Given the description of an element on the screen output the (x, y) to click on. 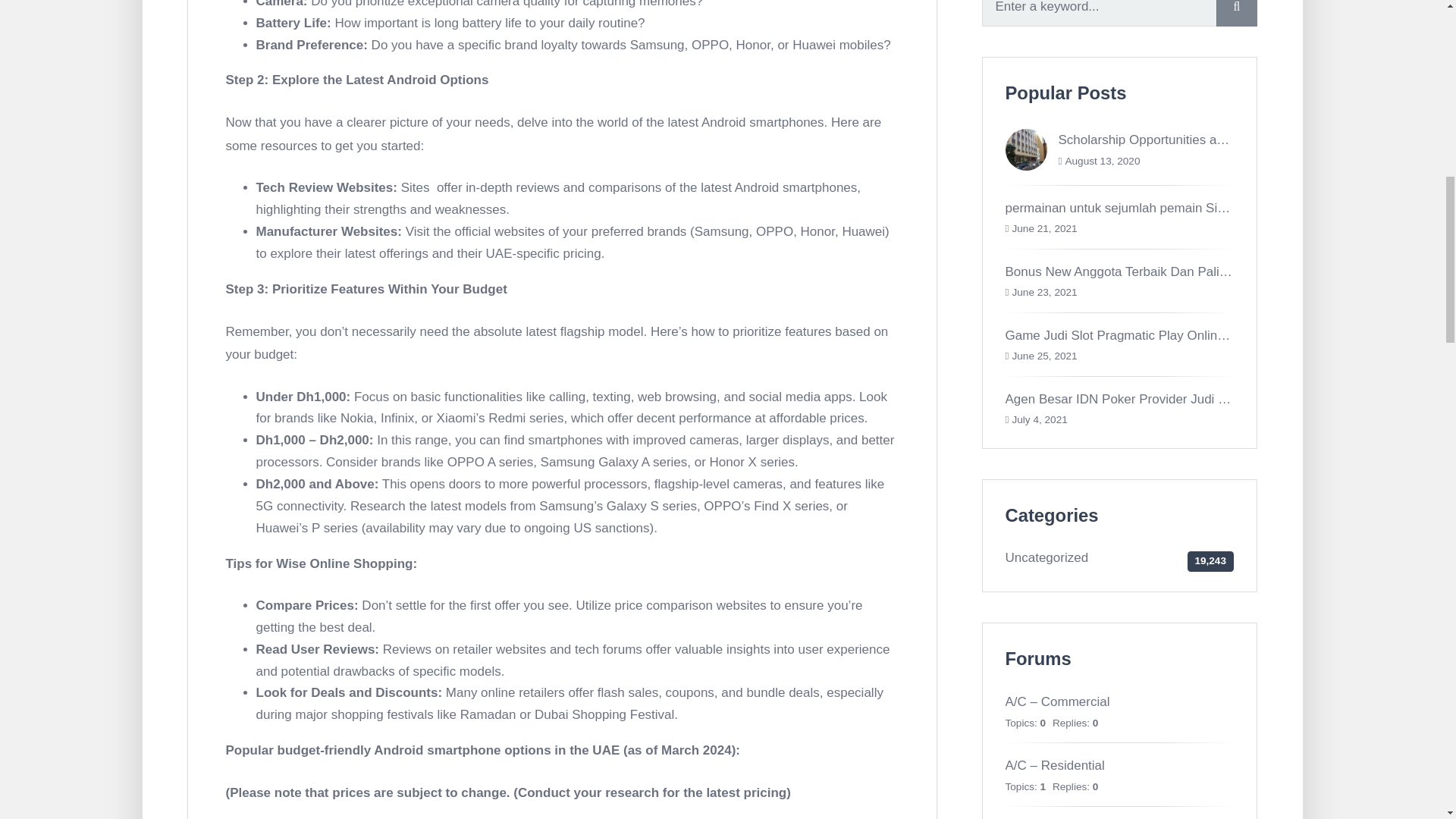
June 25, 2021 (1044, 355)
July 4, 2021 (1039, 419)
June 21, 2021 (1044, 228)
Bonus New Anggota Terbaik Dan Paling dipercaya Tentu Gacor (1186, 271)
June 23, 2021 (1044, 292)
August 13, 2020 (1102, 161)
Uncategorized (1047, 557)
